Given the description of an element on the screen output the (x, y) to click on. 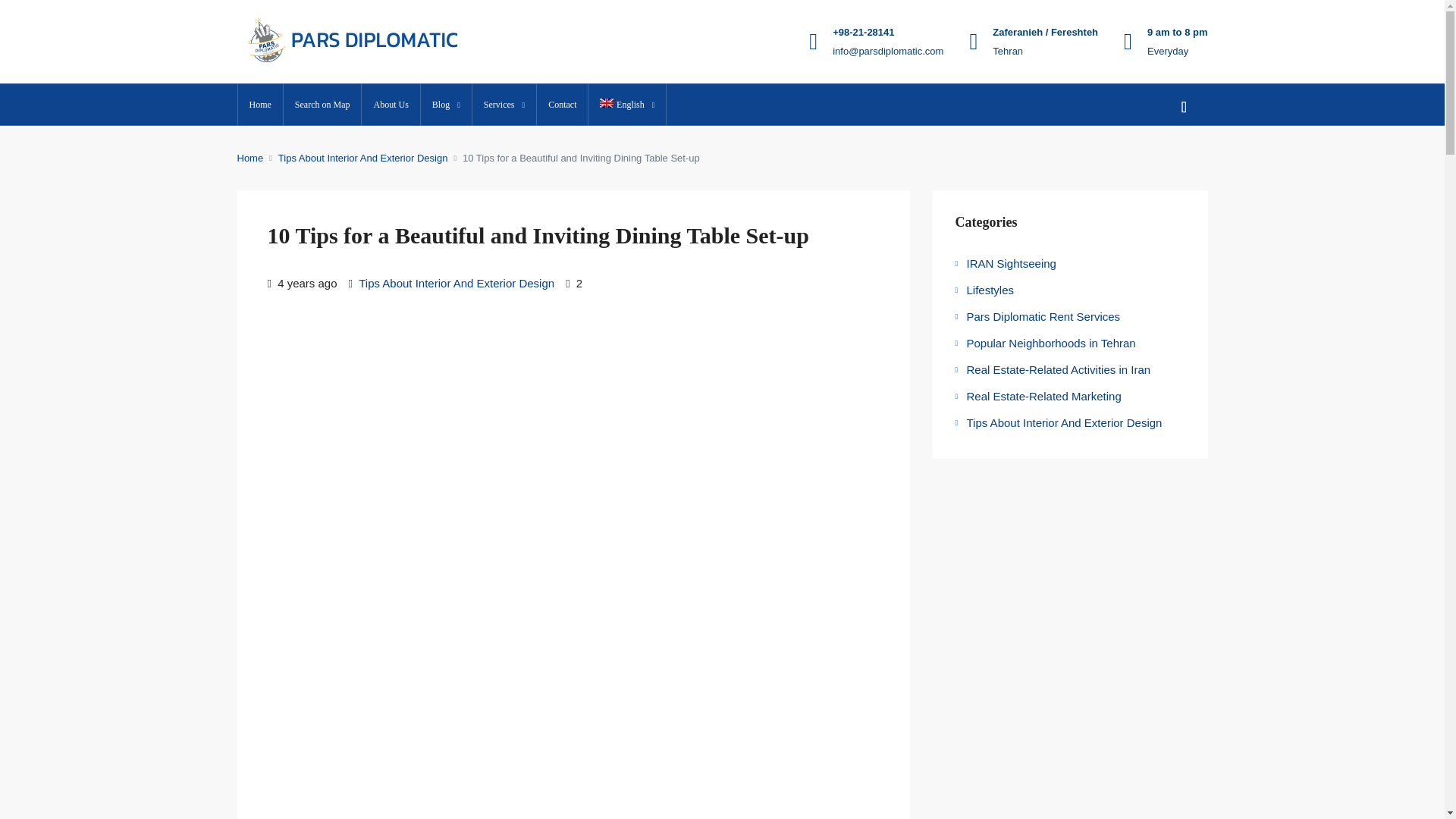
Search on Map (322, 104)
Blog (445, 105)
English (626, 105)
Contact (562, 104)
About Us (390, 104)
Services (503, 105)
Home (260, 104)
English (626, 105)
